Given the description of an element on the screen output the (x, y) to click on. 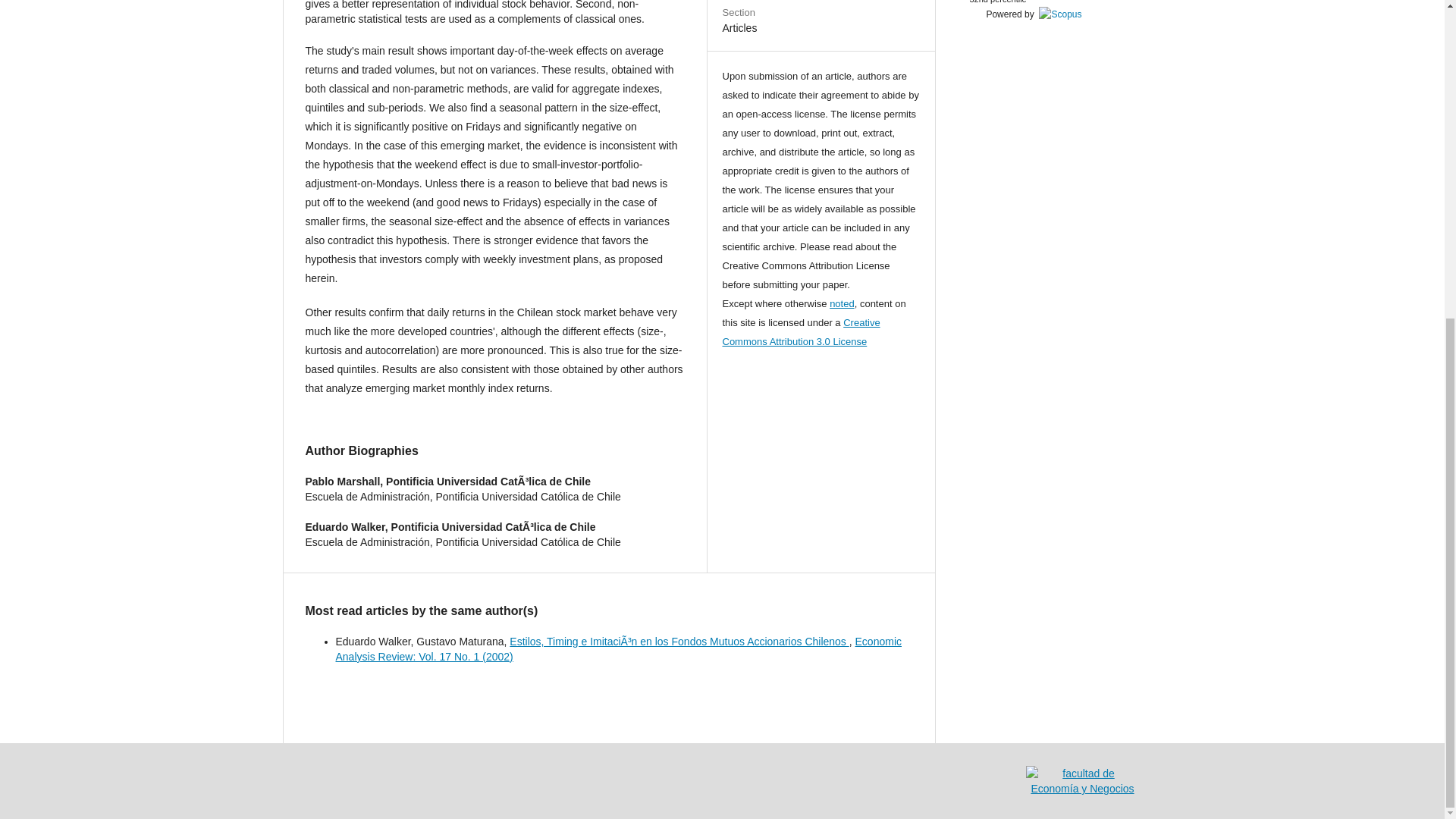
Creative Commons Attribution 3.0 License (800, 331)
noted (841, 303)
